Given the description of an element on the screen output the (x, y) to click on. 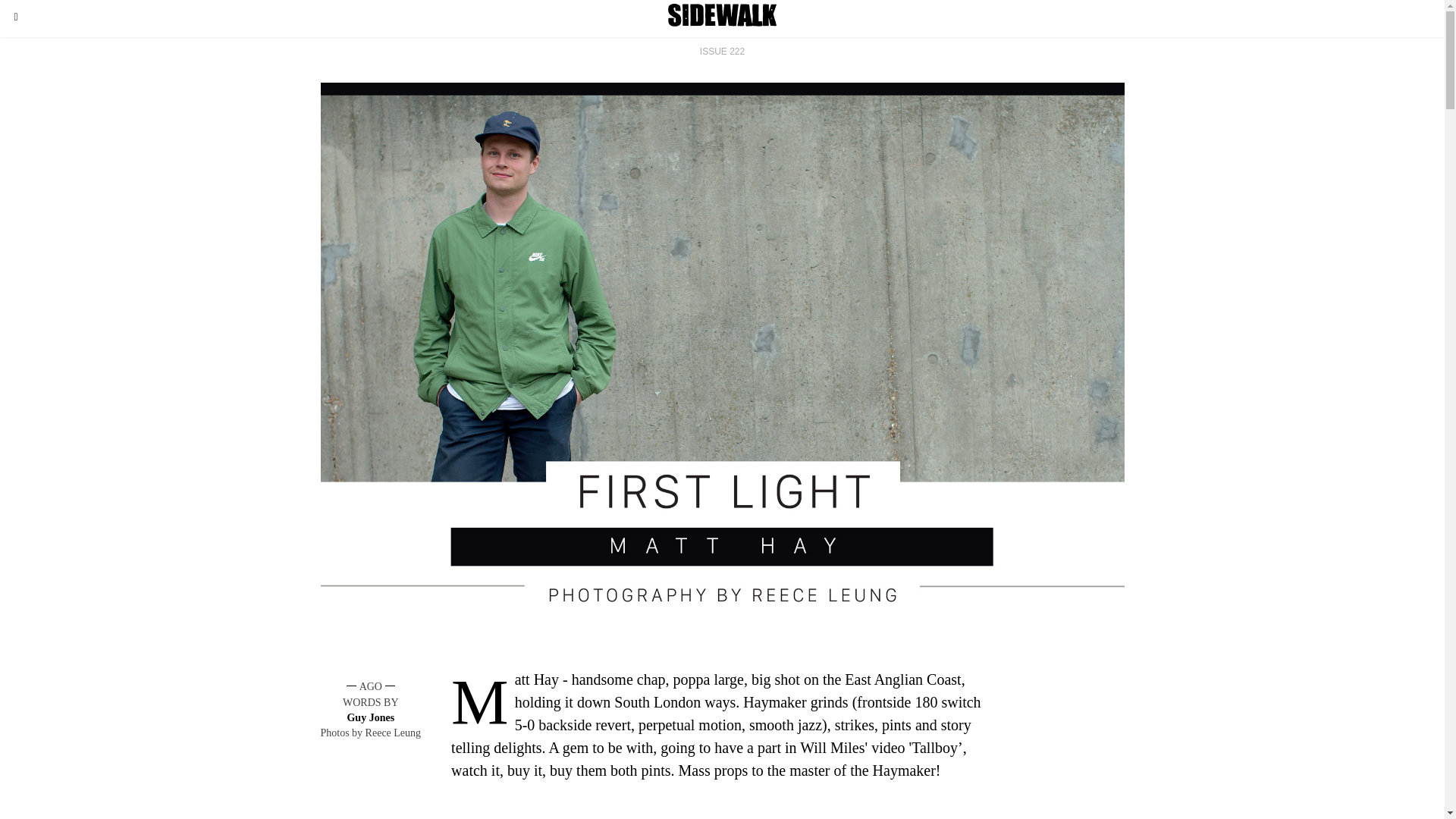
Homepage (722, 15)
Toggle the mobile menu on or off (16, 15)
Menu (16, 15)
